Given the description of an element on the screen output the (x, y) to click on. 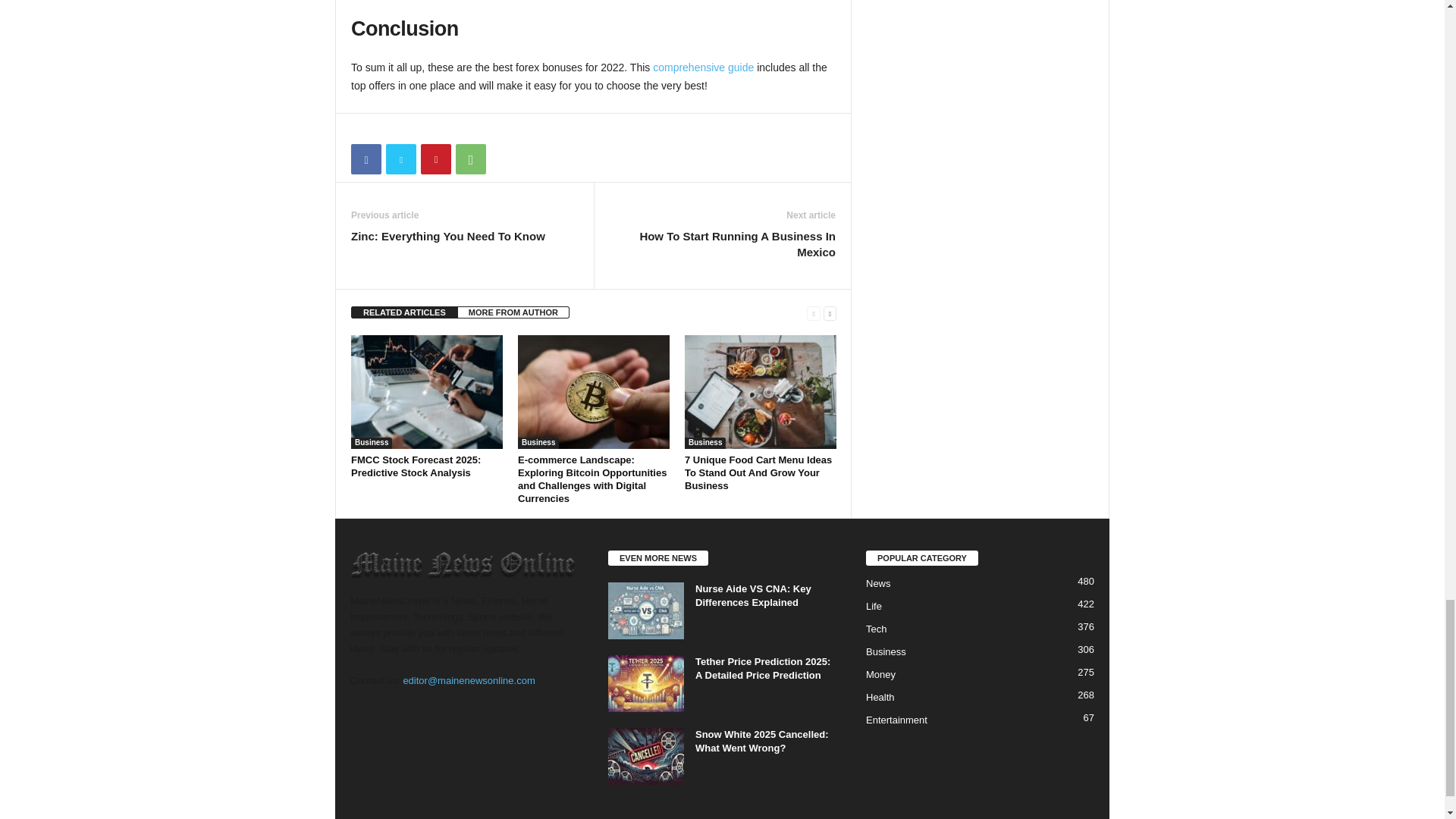
WhatsApp (470, 159)
Facebook (365, 159)
bottomFacebookLike (390, 129)
FMCC Stock Forecast 2025: Predictive Stock Analysis (415, 466)
Pinterest (435, 159)
Twitter (400, 159)
FMCC Stock Forecast 2025: Predictive Stock Analysis (426, 391)
